Given the description of an element on the screen output the (x, y) to click on. 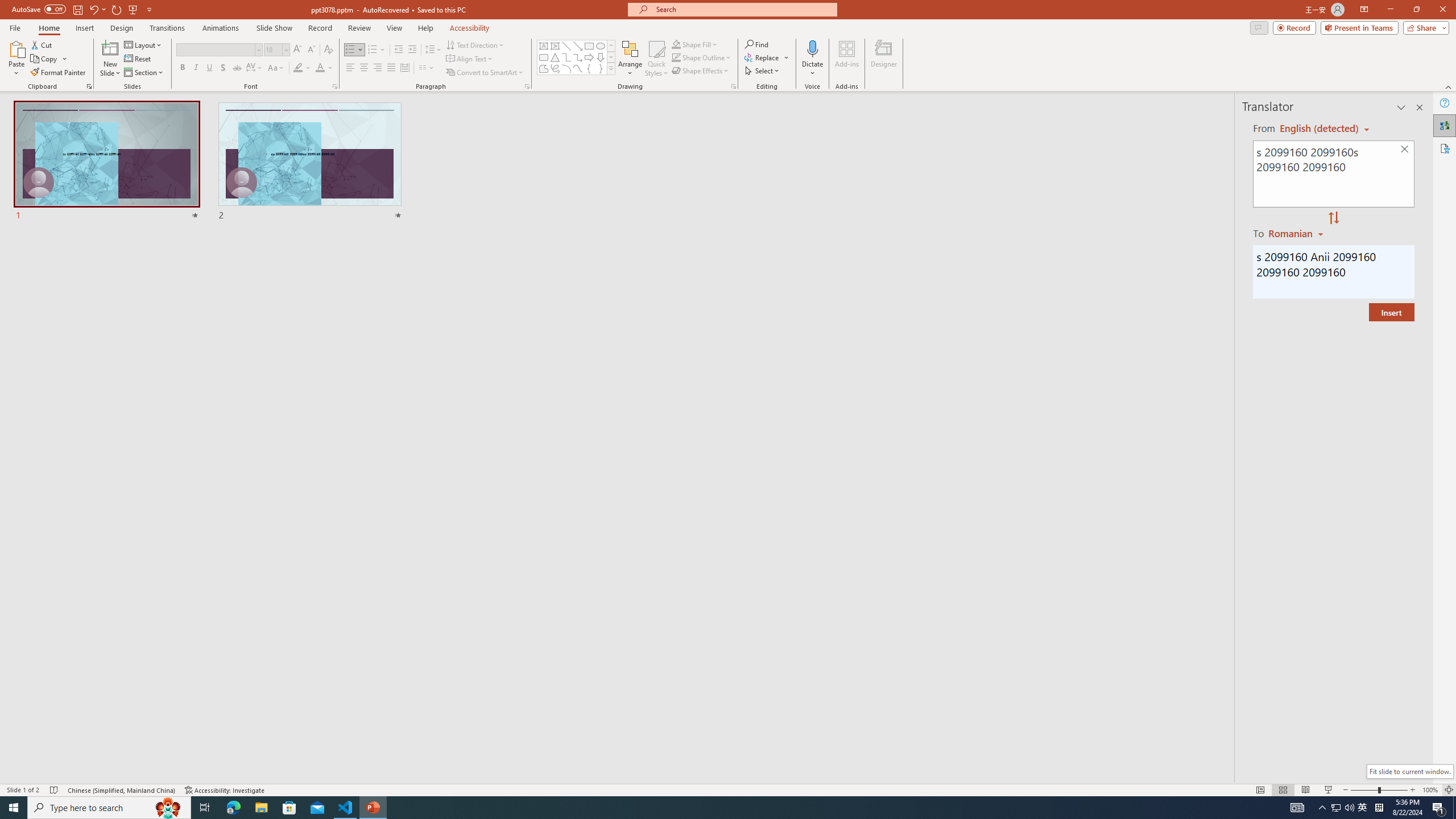
Arc (566, 68)
Office Clipboard... (88, 85)
Center (363, 67)
Format Painter (58, 72)
Connector: Elbow Arrow (577, 57)
Strikethrough (237, 67)
